Given the description of an element on the screen output the (x, y) to click on. 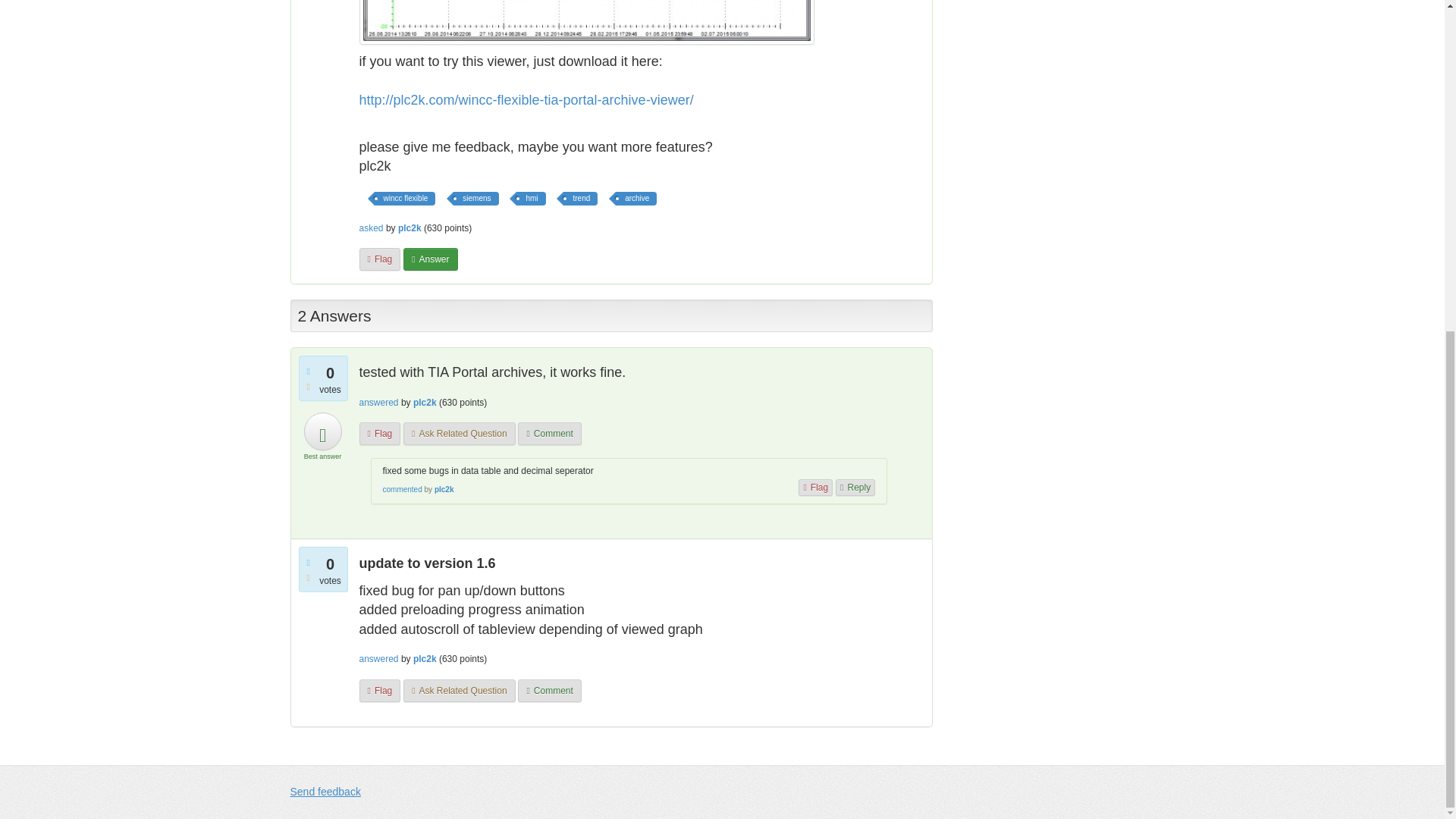
Answer (430, 259)
Flag (380, 259)
trend (579, 198)
asked (371, 227)
hmi (530, 198)
plc2k (409, 227)
answered (378, 402)
archive (635, 198)
siemens (474, 198)
wincc flexible (404, 198)
